Given the description of an element on the screen output the (x, y) to click on. 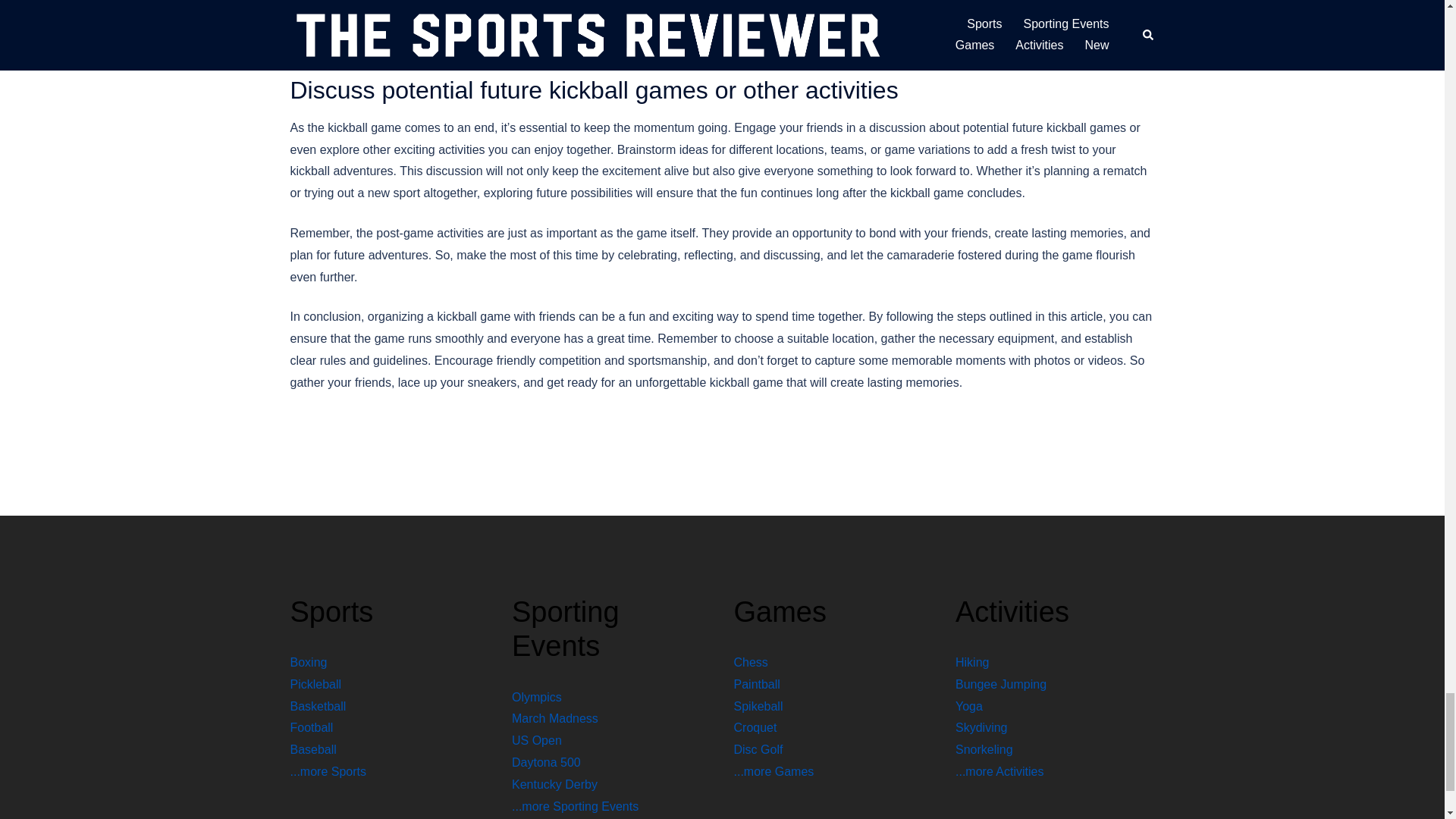
Basketball (317, 706)
Pickleball (314, 684)
Hiking (971, 662)
Skydiving (981, 727)
Spikeball (758, 706)
Yoga (968, 706)
March Madness (555, 717)
Daytona 500 (546, 762)
US Open (537, 739)
...more Activities (999, 771)
Paintball (756, 684)
Baseball (312, 748)
Chess (750, 662)
Bungee Jumping (1000, 684)
...more Games (773, 771)
